Given the description of an element on the screen output the (x, y) to click on. 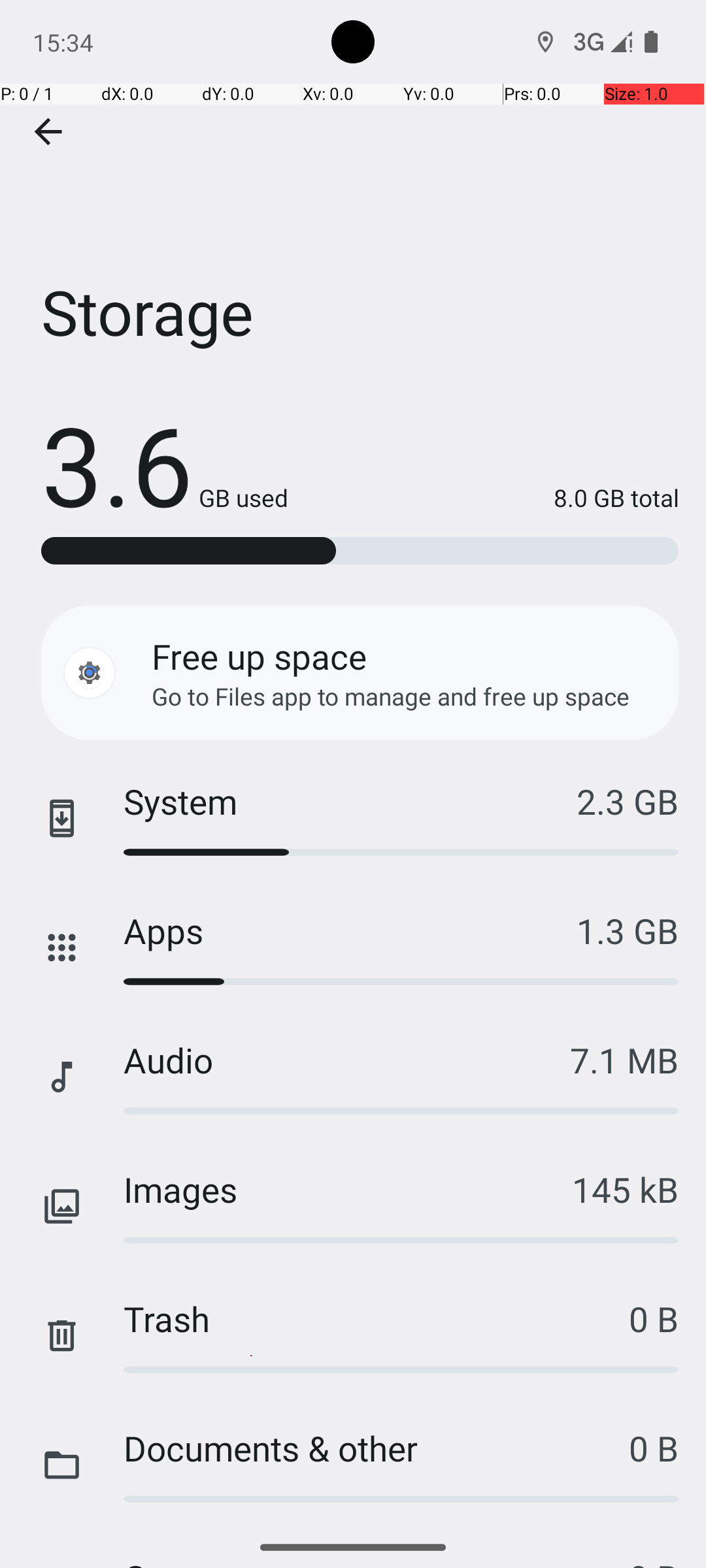
3.6 GB used Element type: android.widget.TextView (164, 463)
8.0 GB total Element type: android.widget.TextView (483, 497)
Free up space Element type: android.widget.TextView (258, 656)
Go to Files app to manage and free up space Element type: android.widget.TextView (390, 695)
2.3 GB Element type: android.widget.TextView (627, 801)
1.3 GB Element type: android.widget.TextView (627, 930)
7.1 MB Element type: android.widget.TextView (624, 1059)
145 kB Element type: android.widget.TextView (624, 1189)
0 B Element type: android.widget.TextView (653, 1318)
Documents & other Element type: android.widget.TextView (375, 1447)
